Given the description of an element on the screen output the (x, y) to click on. 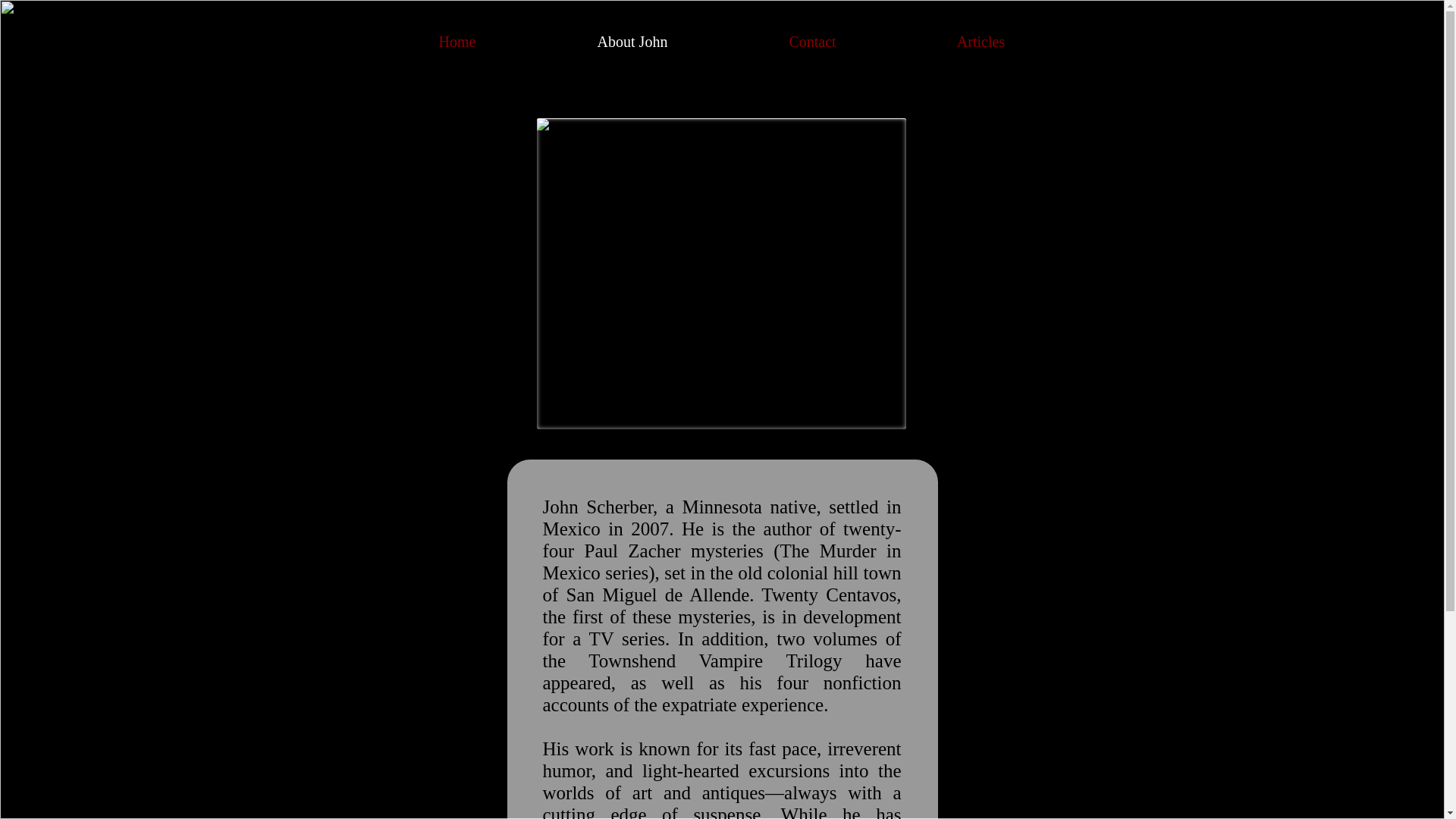
Home (456, 41)
About John (633, 41)
Articles (980, 41)
Contact (812, 41)
